Given the description of an element on the screen output the (x, y) to click on. 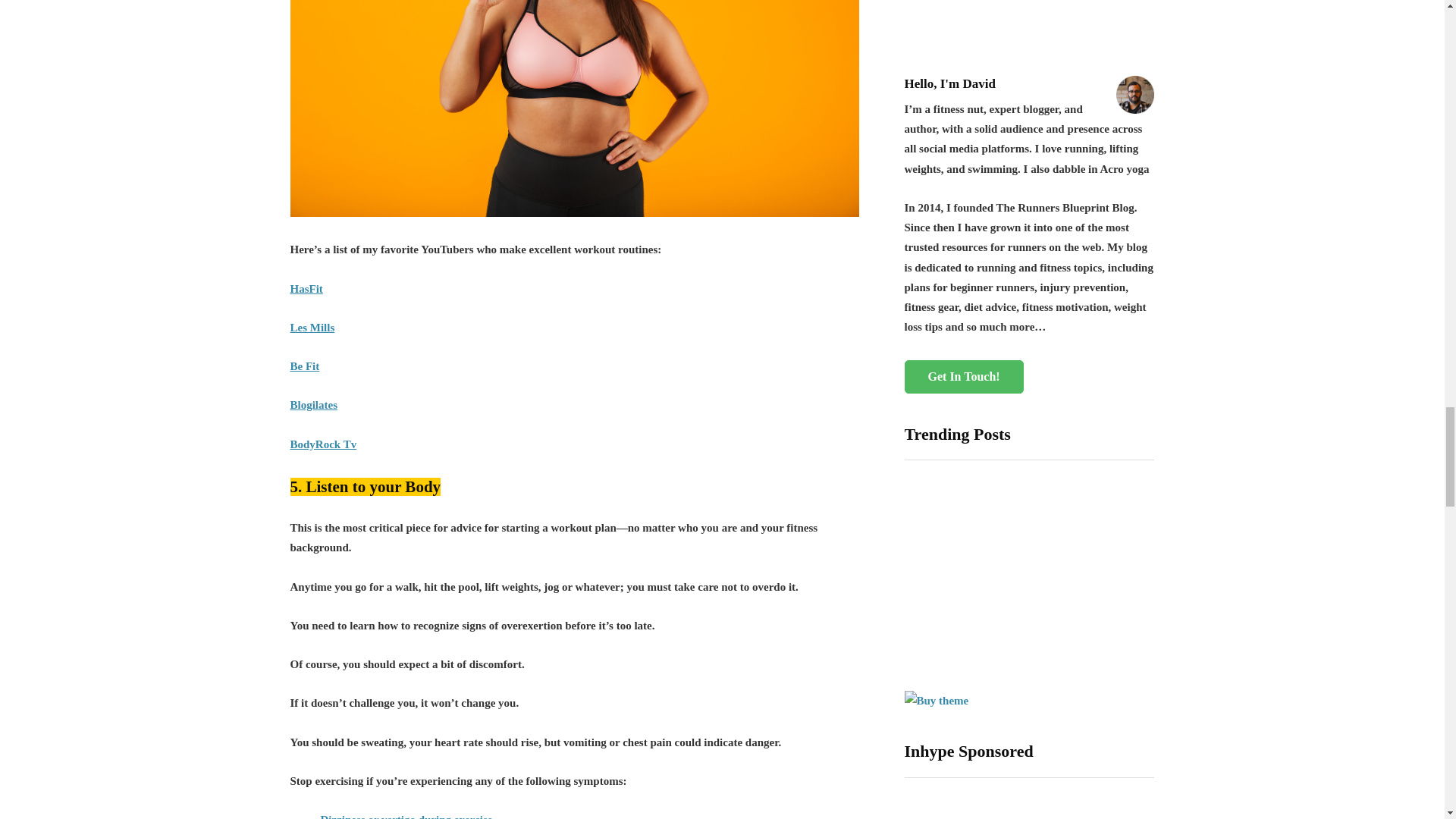
HasFit (305, 288)
Dizziness or vertigo during exercise (406, 816)
Be Fit (303, 366)
Blogilates (313, 404)
BodyRock Tv (322, 444)
Les Mills (311, 327)
